Given the description of an element on the screen output the (x, y) to click on. 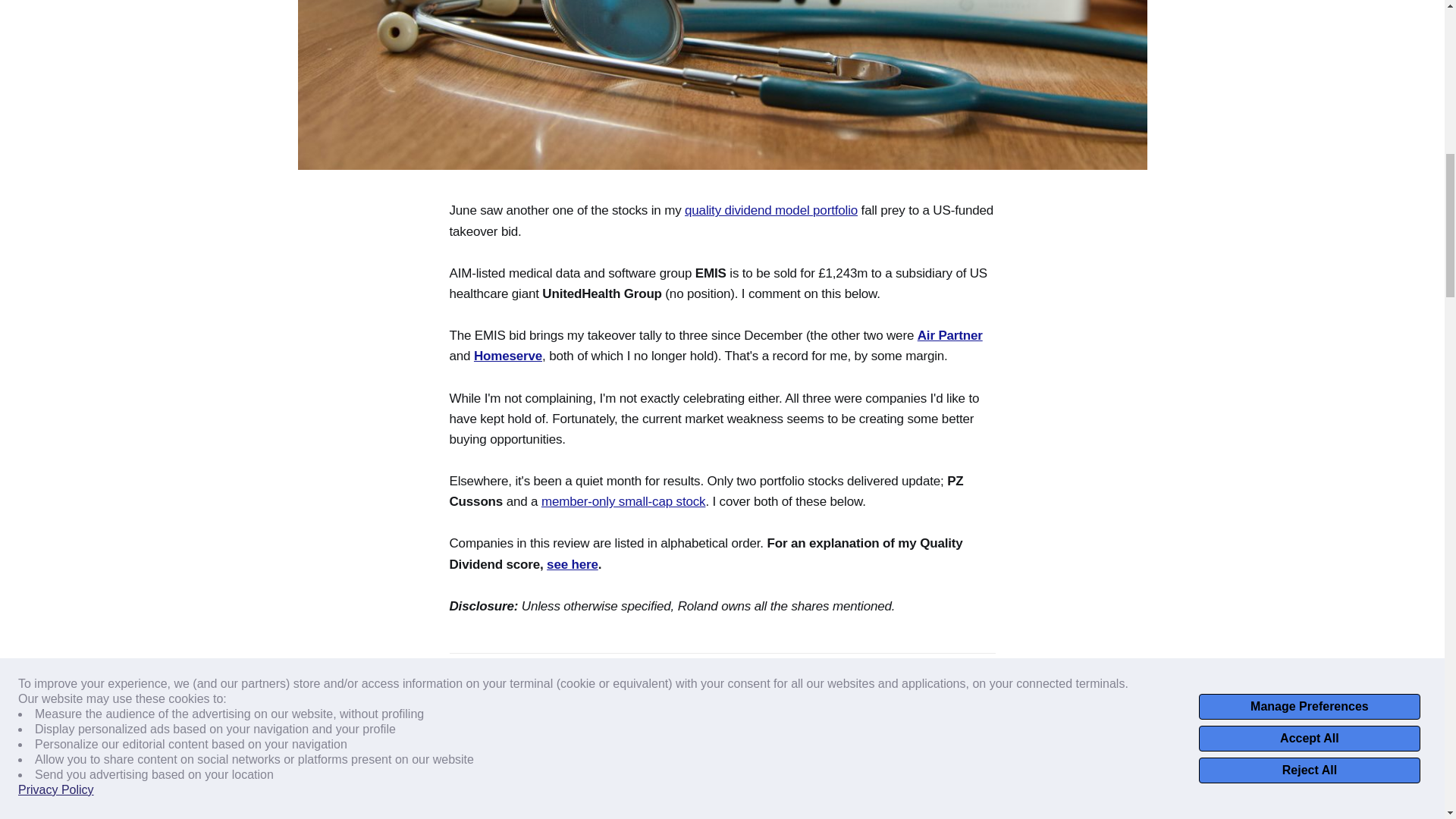
Homeserve (507, 355)
quality dividend model portfolio (770, 210)
Air Partner (949, 335)
see here (572, 564)
member-only small-cap stock (622, 501)
Click here for an archive of my past coverage (647, 749)
